Given the description of an element on the screen output the (x, y) to click on. 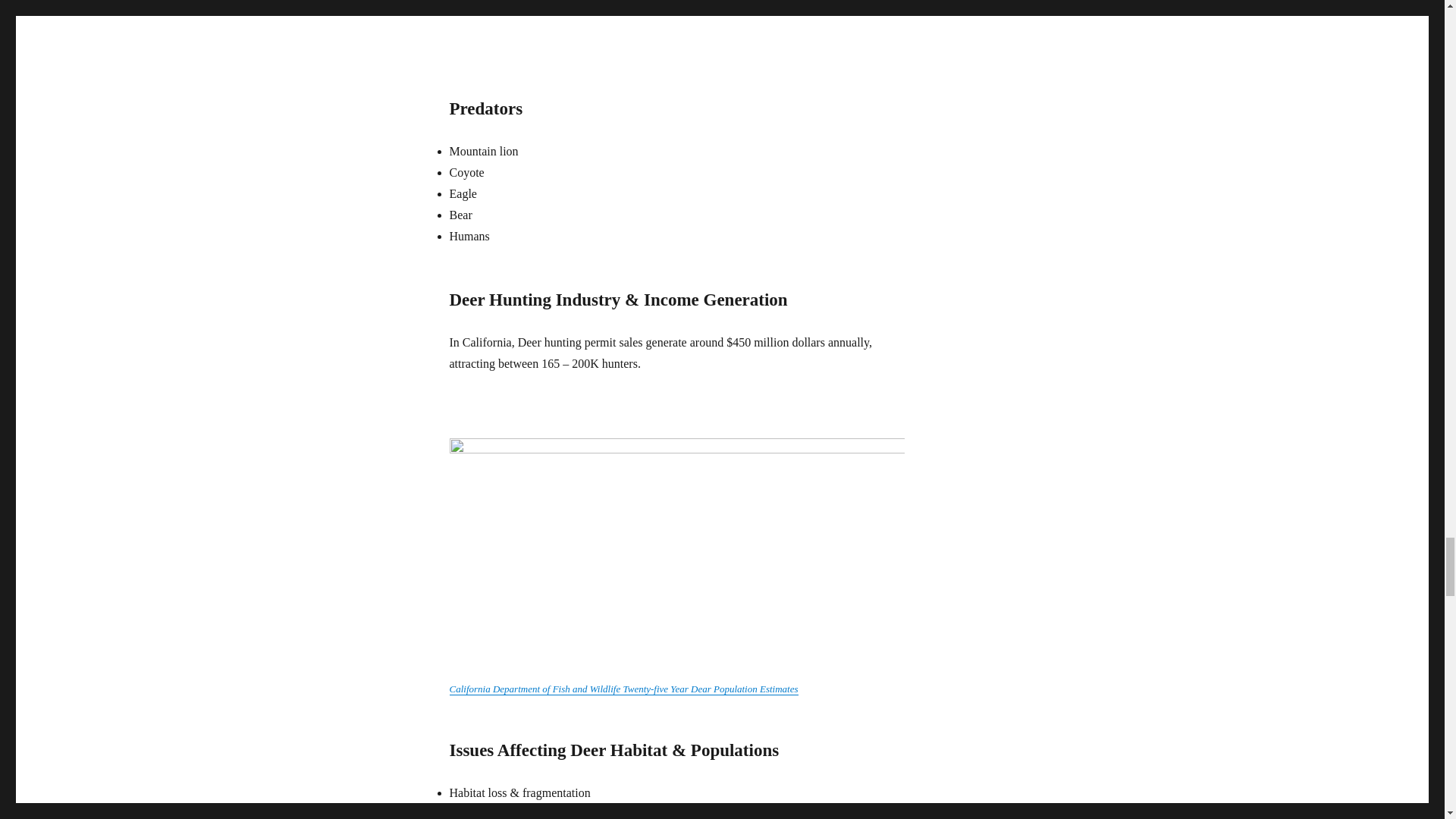
Ruminant Nutrition: A Symbiotic Relationship (676, 28)
